Given the description of an element on the screen output the (x, y) to click on. 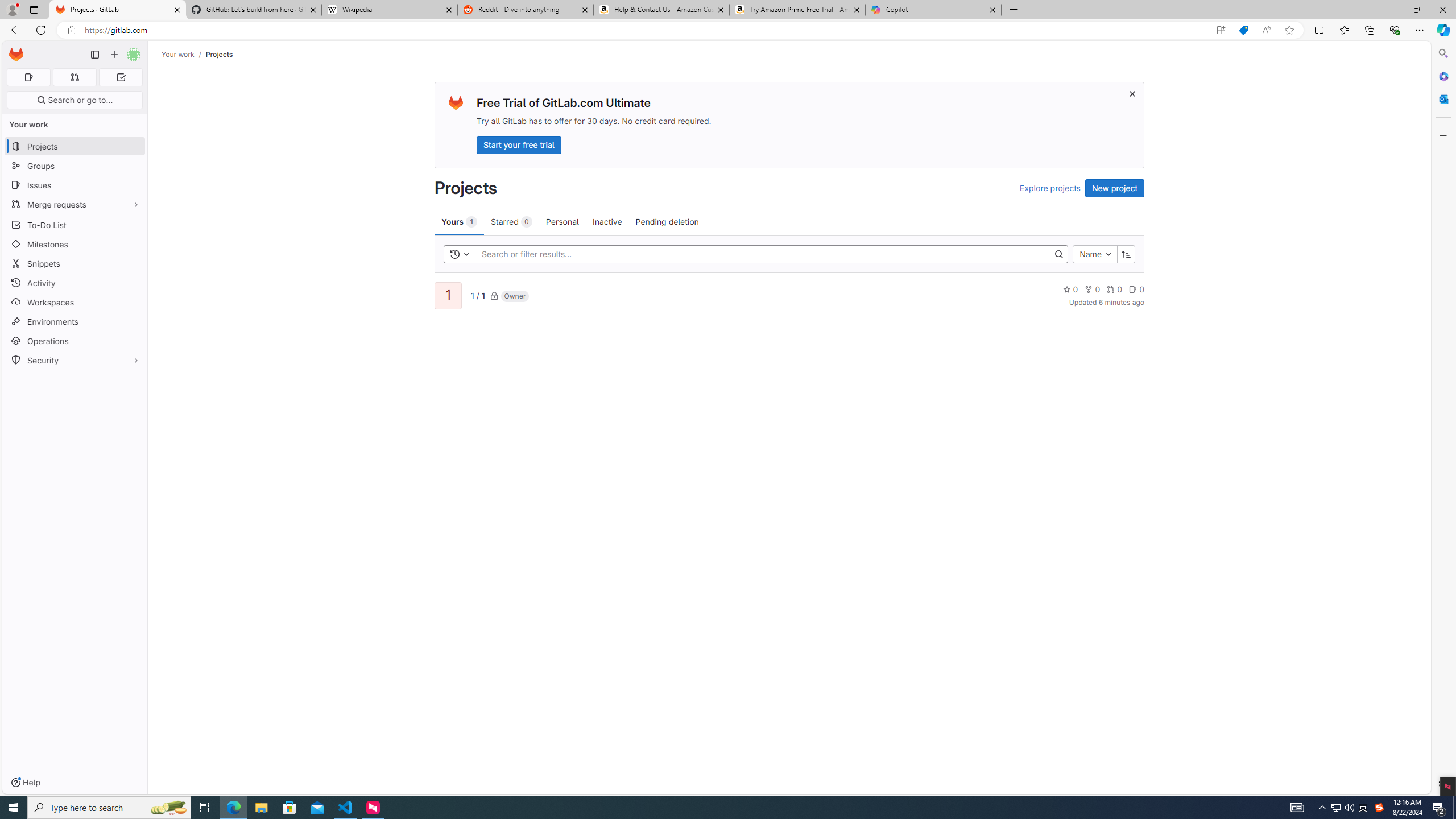
Groups (74, 165)
Merge requests 0 (74, 76)
Groups (74, 165)
Start your free trial (519, 144)
Security (74, 359)
To-Do List (74, 224)
Sort direction: Ascending (1125, 253)
Personal (561, 221)
Yours 1 (458, 221)
New project (1114, 187)
